Given the description of an element on the screen output the (x, y) to click on. 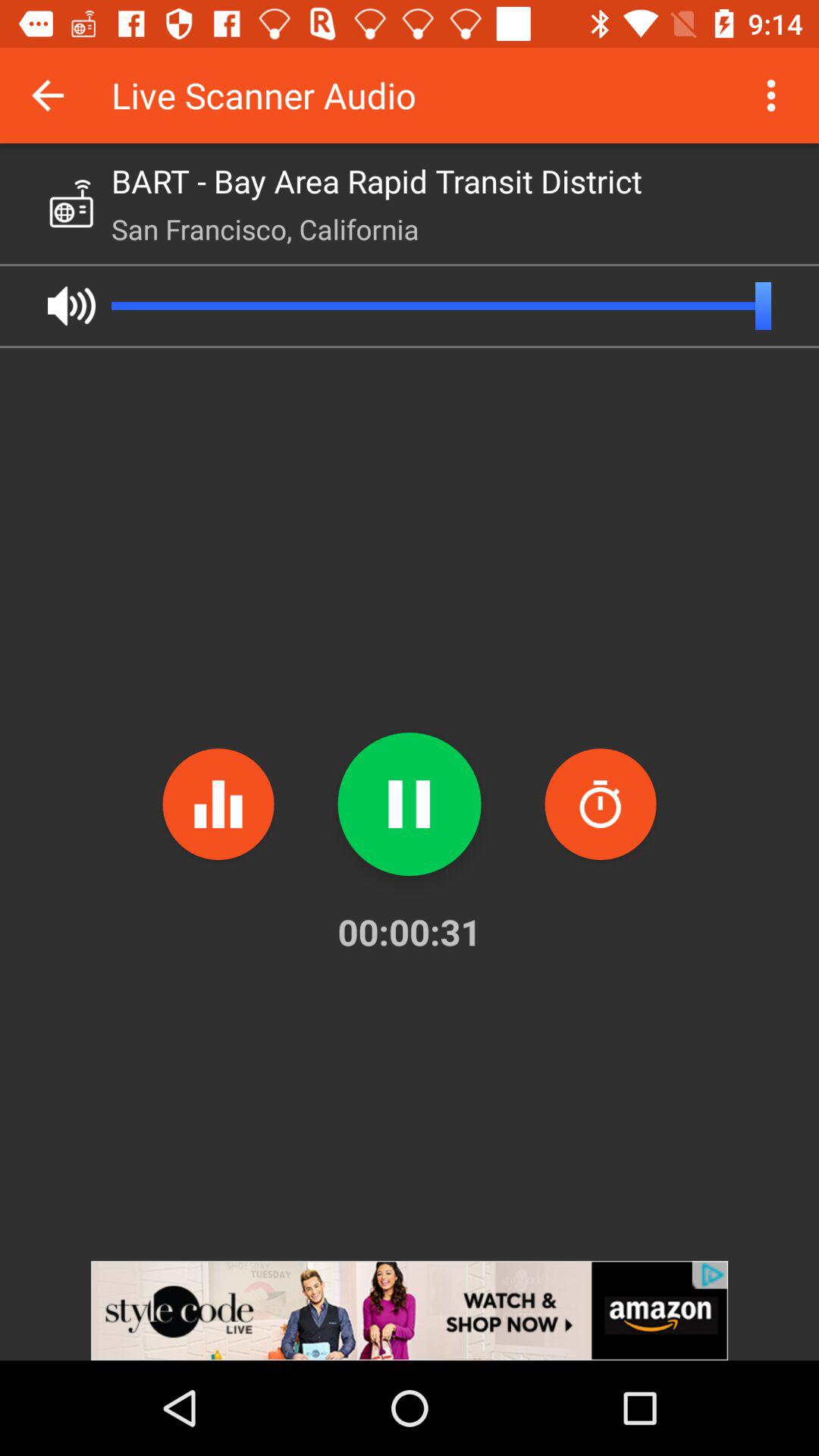
play and pause button (409, 803)
